Given the description of an element on the screen output the (x, y) to click on. 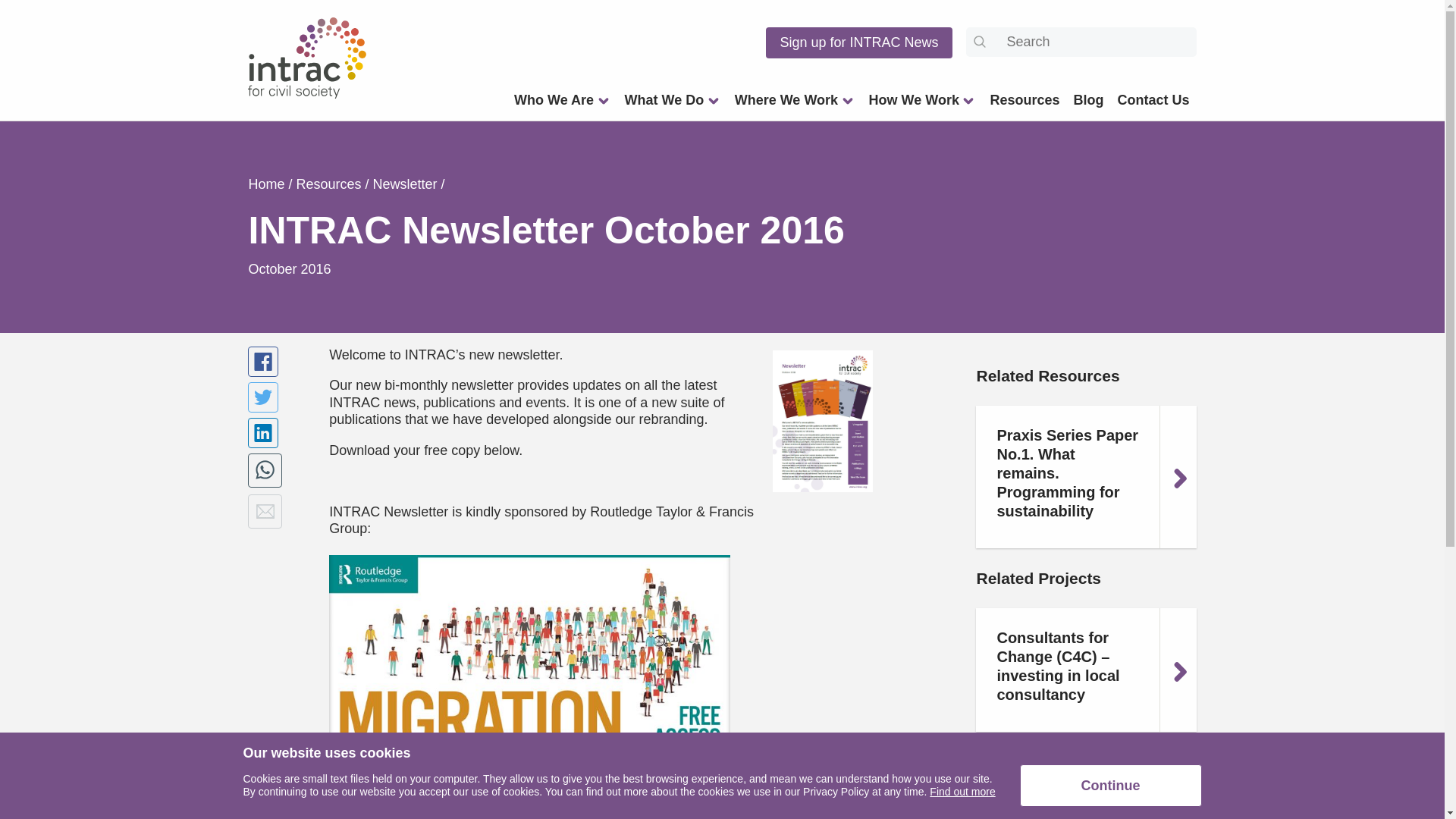
Find out more (962, 791)
Share by Email (264, 511)
Sign up for INTRAC News (858, 42)
Find out more (962, 791)
Continue (1110, 785)
